Given the description of an element on the screen output the (x, y) to click on. 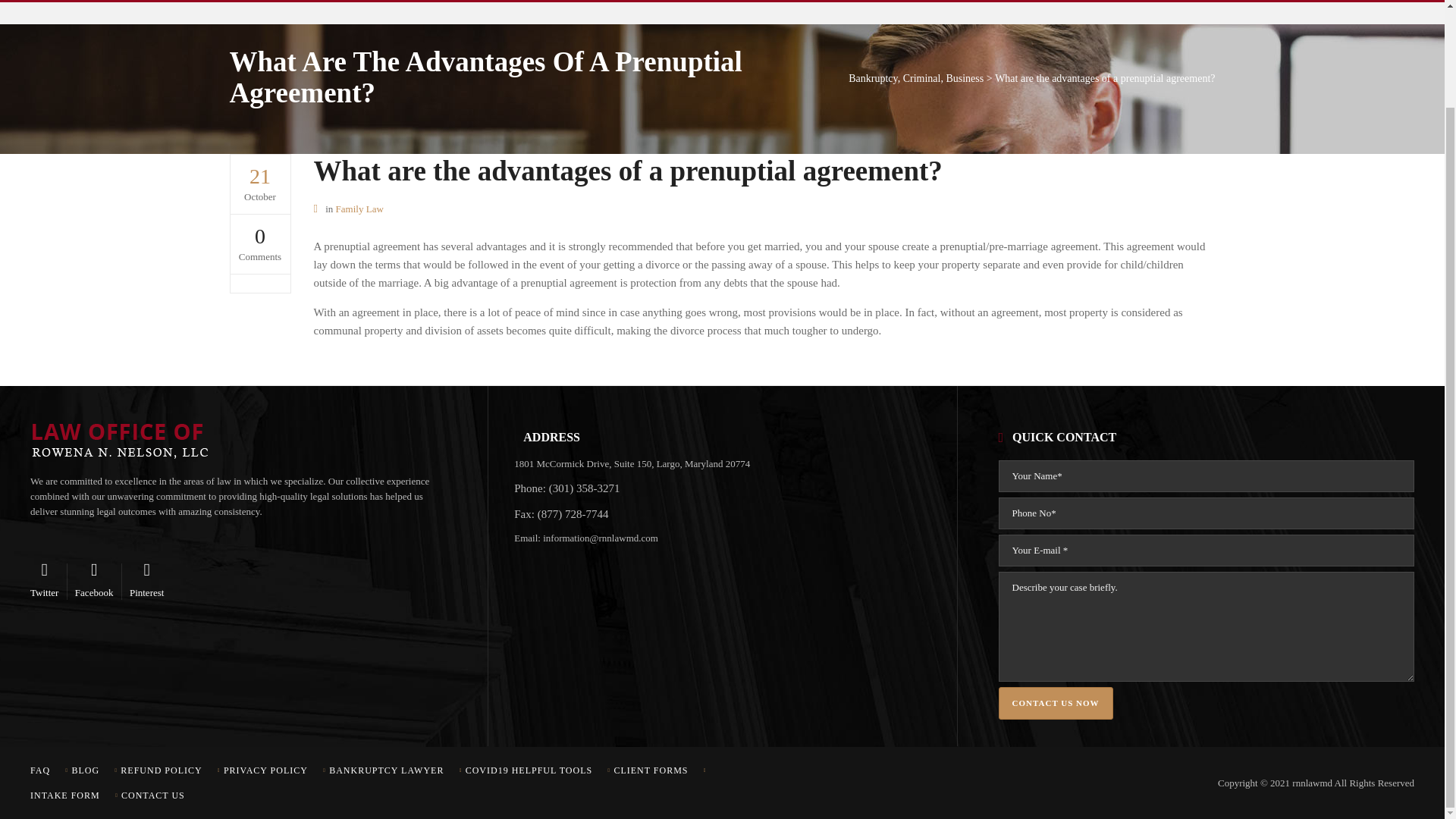
BANKRUPTCY LAW (843, 1)
HOME (262, 1)
Contact us now (1055, 590)
ENTERTAINMENT LAW (698, 1)
FAMILY LAW (569, 1)
CRIMINAL LAW (461, 1)
BUSINESS LAW (347, 1)
